Given the description of an element on the screen output the (x, y) to click on. 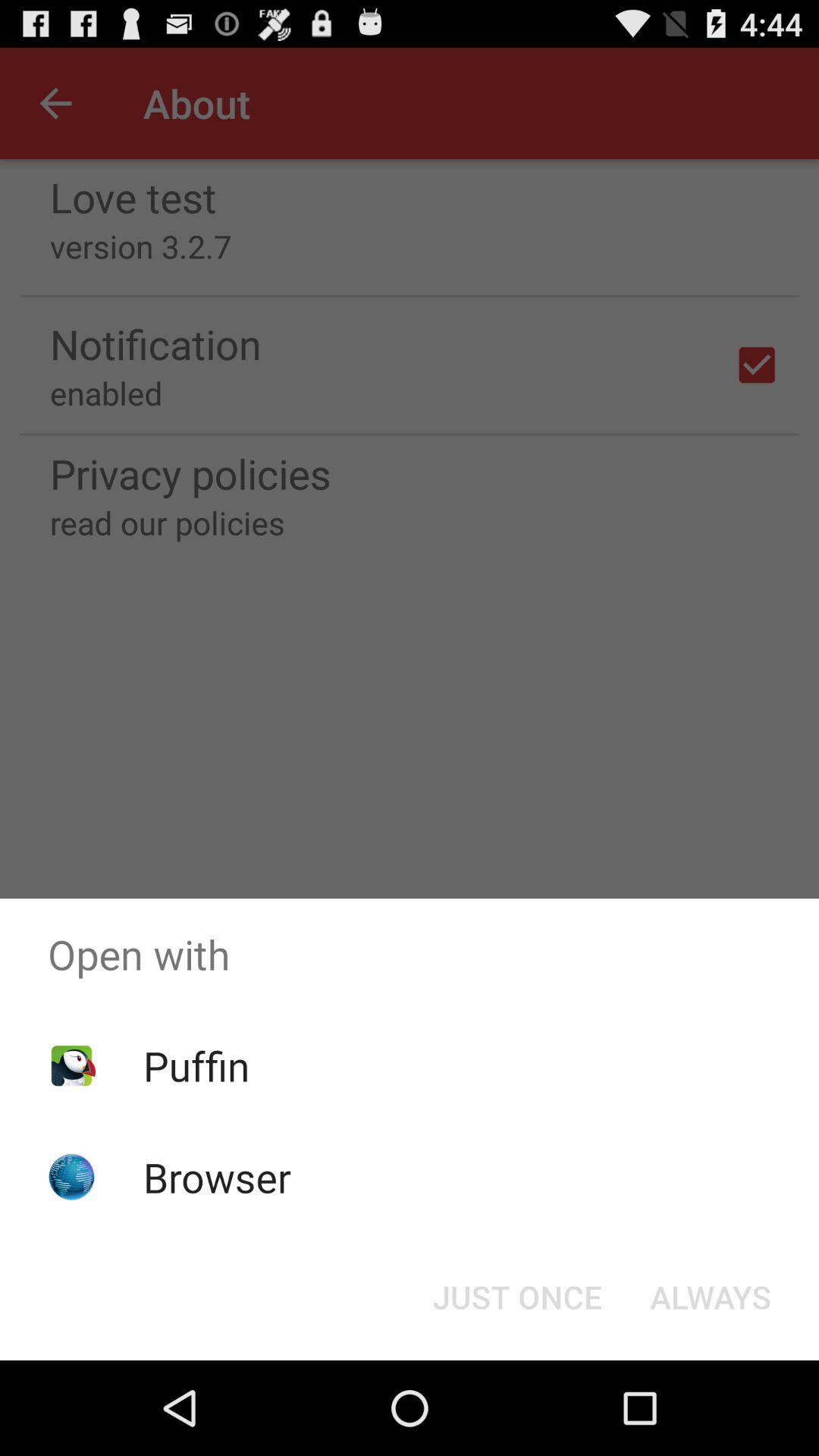
launch the icon below open with item (517, 1296)
